Given the description of an element on the screen output the (x, y) to click on. 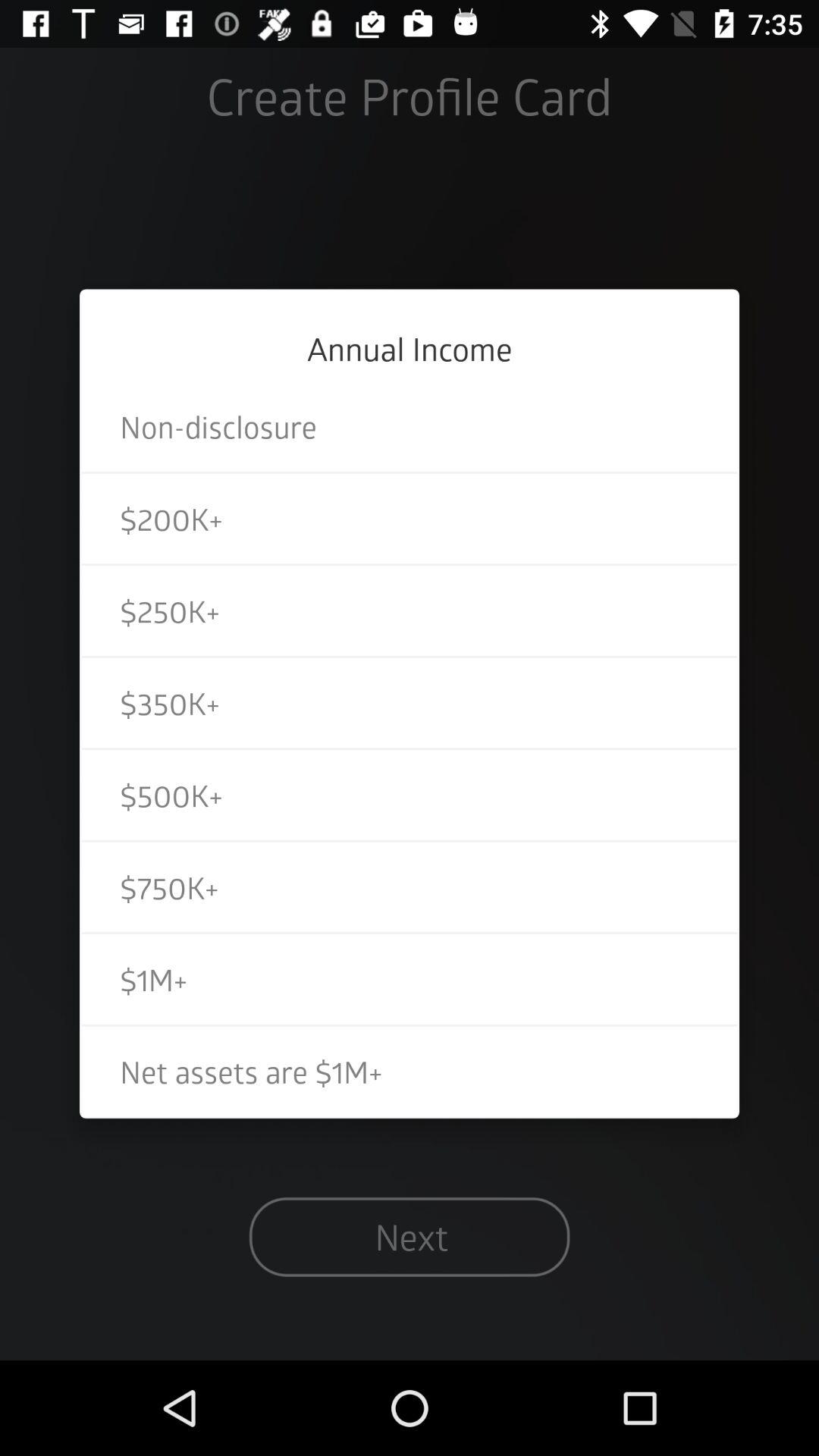
turn on item below non-disclosure (409, 518)
